Given the description of an element on the screen output the (x, y) to click on. 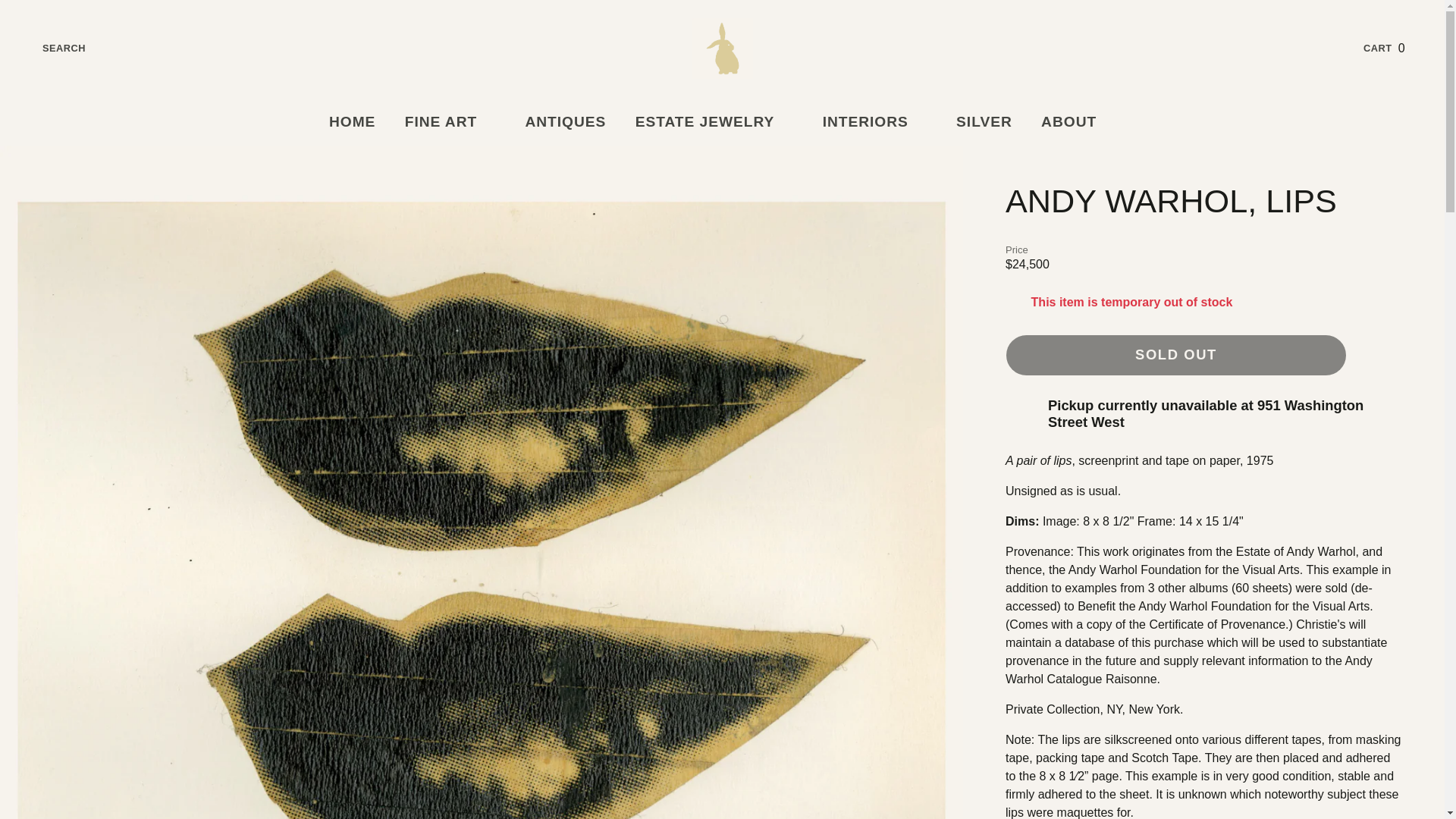
FINE ART (1394, 48)
SOLD OUT (450, 122)
INTERIORS (1176, 354)
ESTATE JEWELRY (874, 122)
ANTIQUES (714, 122)
SILVER (565, 122)
ABOUT (984, 122)
HOME (1077, 122)
SEARCH (352, 122)
